Given the description of an element on the screen output the (x, y) to click on. 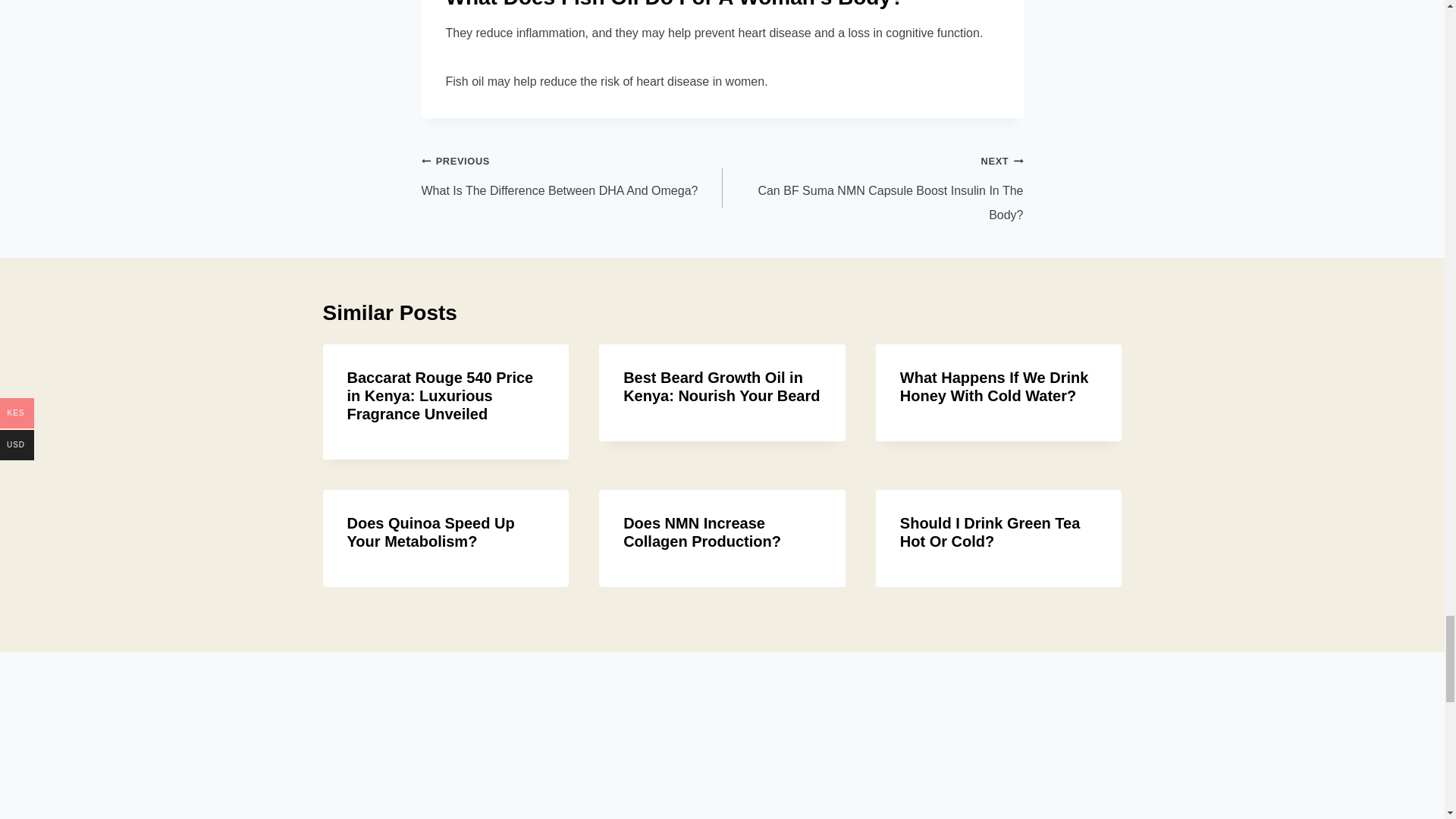
Does NMN Increase Collagen Production? (701, 532)
Does Quinoa Speed Up Your Metabolism? (872, 187)
Should I Drink Green Tea Hot Or Cold? (572, 175)
Best Beard Growth Oil in Kenya: Nourish Your Beard (431, 532)
What Happens If We Drink Honey With Cold Water? (989, 532)
